Given the description of an element on the screen output the (x, y) to click on. 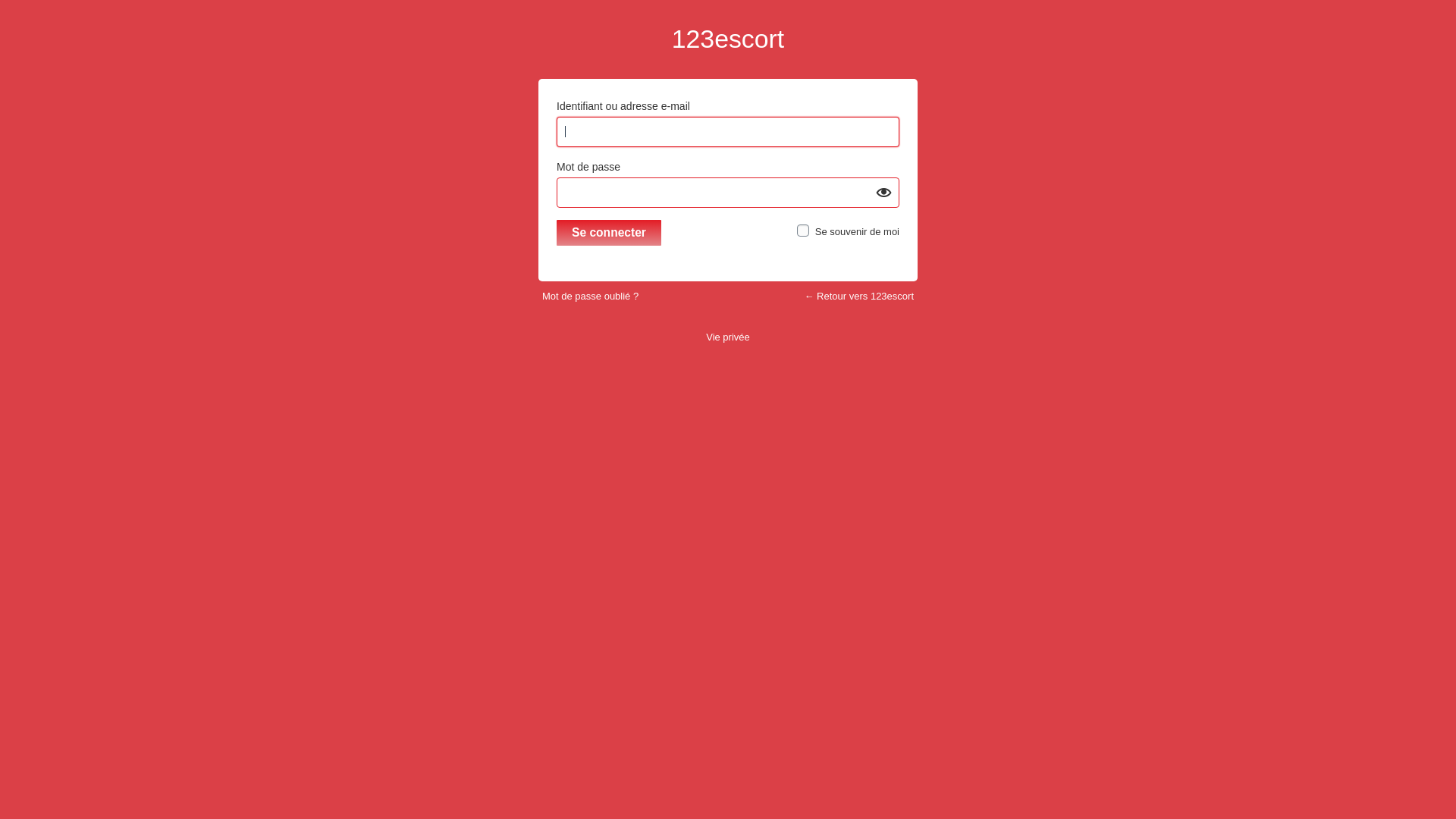
123escort Element type: text (727, 39)
Se connecter Element type: text (608, 232)
